Given the description of an element on the screen output the (x, y) to click on. 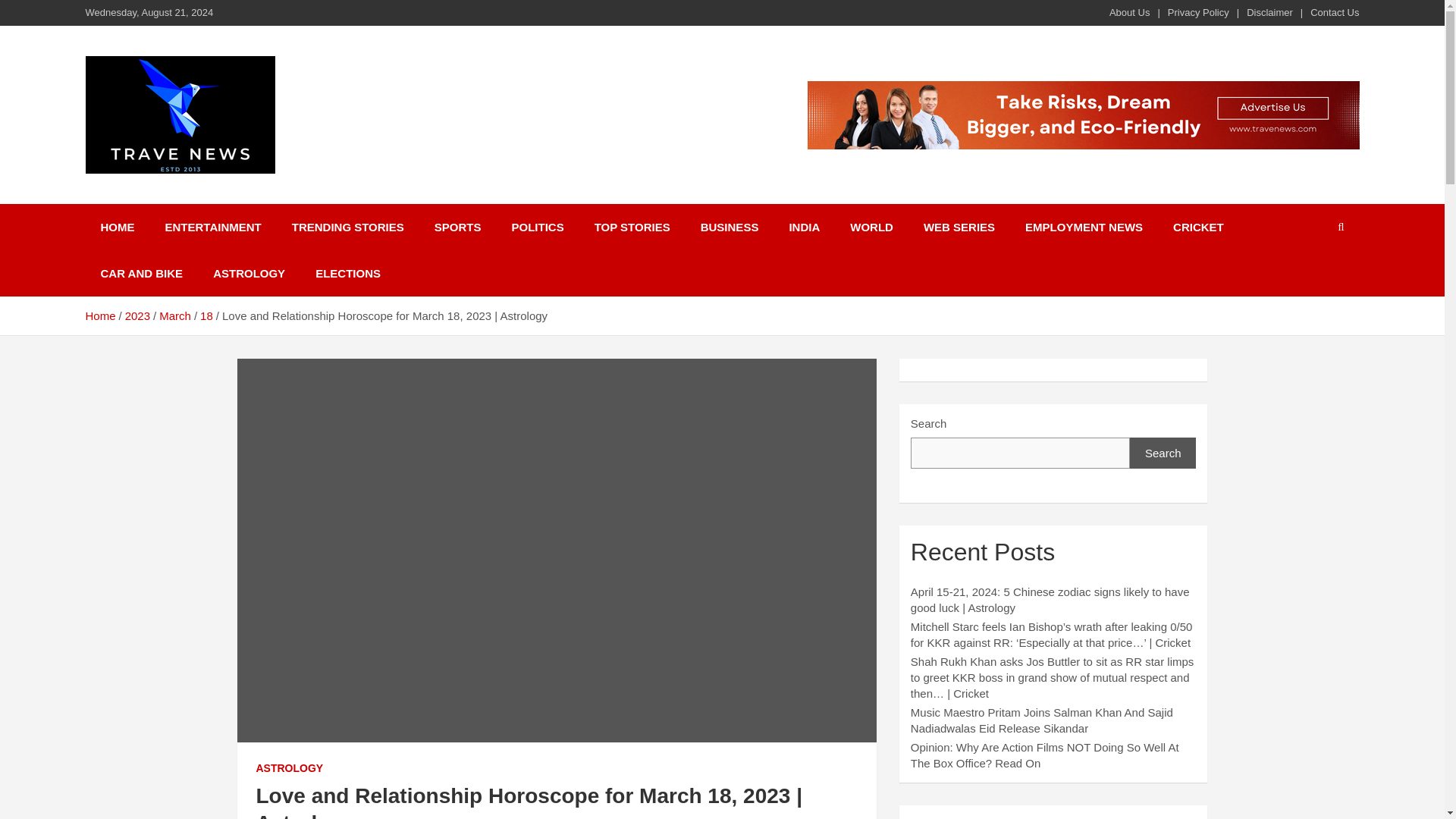
18 (206, 315)
About Us (1129, 12)
TRENDING STORIES (347, 226)
ENTERTAINMENT (212, 226)
ELECTIONS (347, 273)
EMPLOYMENT NEWS (1083, 226)
Home (99, 315)
WEB SERIES (959, 226)
ASTROLOGY (248, 273)
March (174, 315)
